Given the description of an element on the screen output the (x, y) to click on. 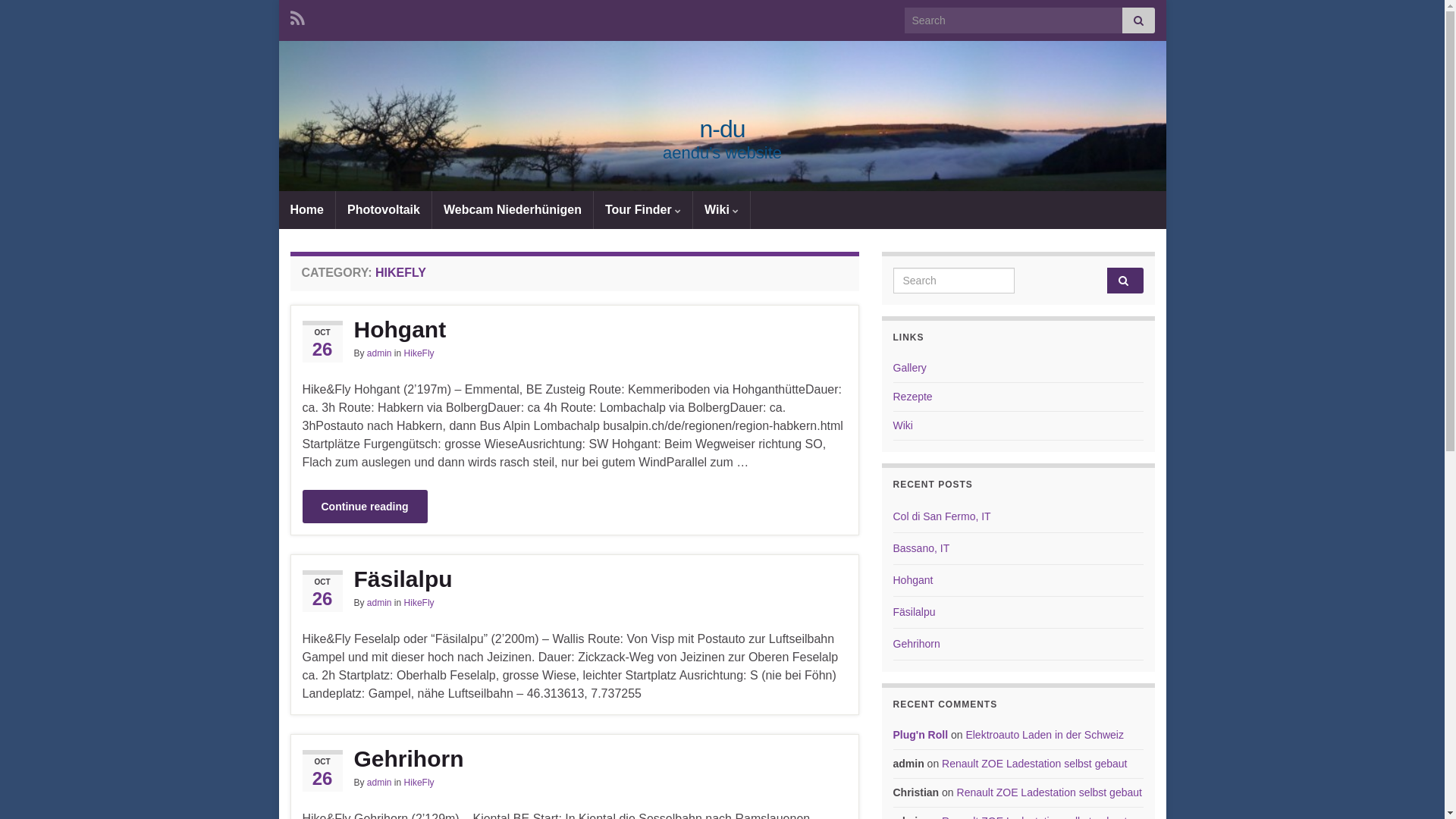
Wiki Element type: text (903, 425)
Continue reading Element type: text (363, 506)
Plug'n Roll Element type: text (920, 734)
Rezepte Element type: text (912, 396)
Gehrihorn Element type: text (916, 643)
admin Element type: text (379, 353)
Elektroauto Laden in der Schweiz Element type: text (1044, 734)
admin Element type: text (379, 602)
HikeFly Element type: text (419, 782)
Tour Finder Element type: text (642, 210)
Hohgant Element type: text (913, 580)
Wiki Element type: text (721, 210)
Renault ZOE Ladestation selbst gebaut Element type: text (1033, 763)
HikeFly Element type: text (419, 353)
n-du Element type: text (721, 128)
HikeFly Element type: text (419, 602)
Photovoltaik Element type: text (383, 210)
Gallery Element type: text (909, 367)
Hohgant Element type: text (573, 329)
Home Element type: text (307, 210)
admin Element type: text (379, 782)
Gehrihorn Element type: text (573, 758)
Renault ZOE Ladestation selbst gebaut Element type: text (1049, 792)
Bassano, IT Element type: text (921, 548)
Subscribe to n-du's RSS feed Element type: hover (296, 16)
n-du Element type: hover (722, 131)
Col di San Fermo, IT Element type: text (942, 516)
